Given the description of an element on the screen output the (x, y) to click on. 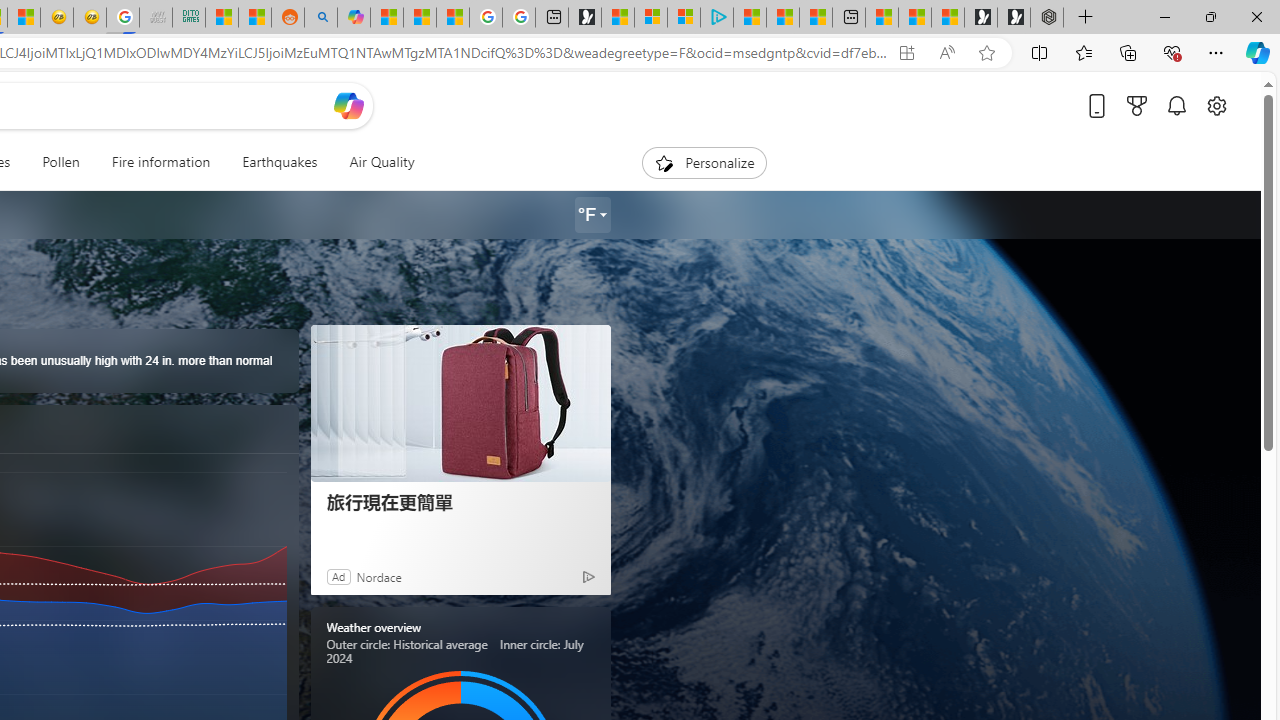
Pollen (60, 162)
